Given the description of an element on the screen output the (x, y) to click on. 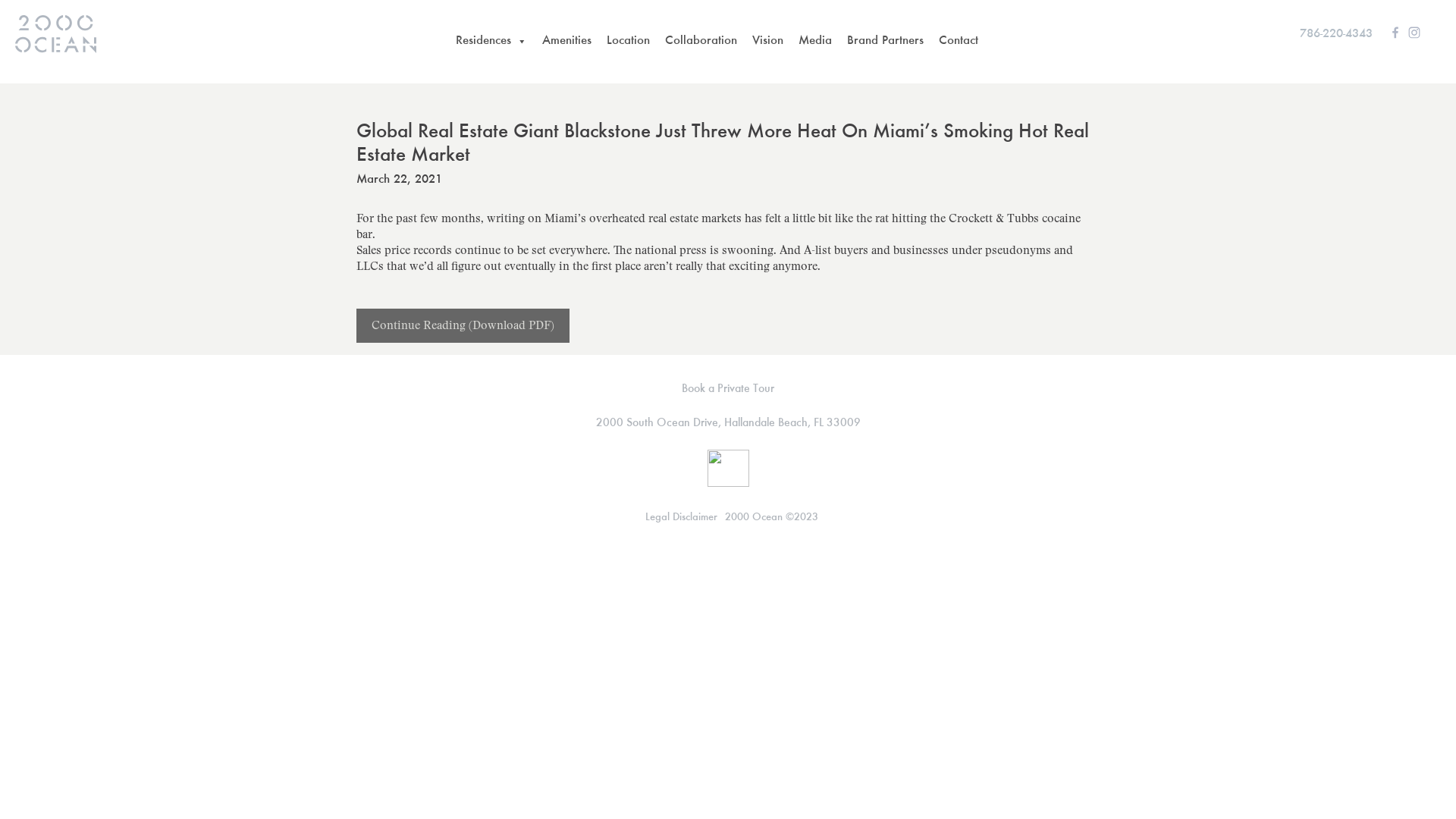
Continue Reading (Download PDF) Element type: text (462, 325)
Instagram Element type: text (1413, 31)
Amenities Element type: text (565, 41)
Vision Element type: text (767, 41)
2000 Ocean Element type: hover (55, 34)
Legal Disclaimer Element type: text (681, 517)
Residences Element type: text (490, 41)
Media Element type: text (814, 41)
Back to Element type: text (398, 380)
2000 South Ocean Drive, Hallandale Beach, FL 33009 Element type: text (728, 422)
Collaboration Element type: text (699, 41)
Contact Element type: text (958, 41)
786-220-4343 Element type: text (1335, 34)
Facebook Element type: text (1394, 31)
Location Element type: text (628, 41)
Brand Partners Element type: text (884, 41)
Youtube Element type: text (1432, 31)
Book a Private Tour Element type: text (727, 388)
